Given the description of an element on the screen output the (x, y) to click on. 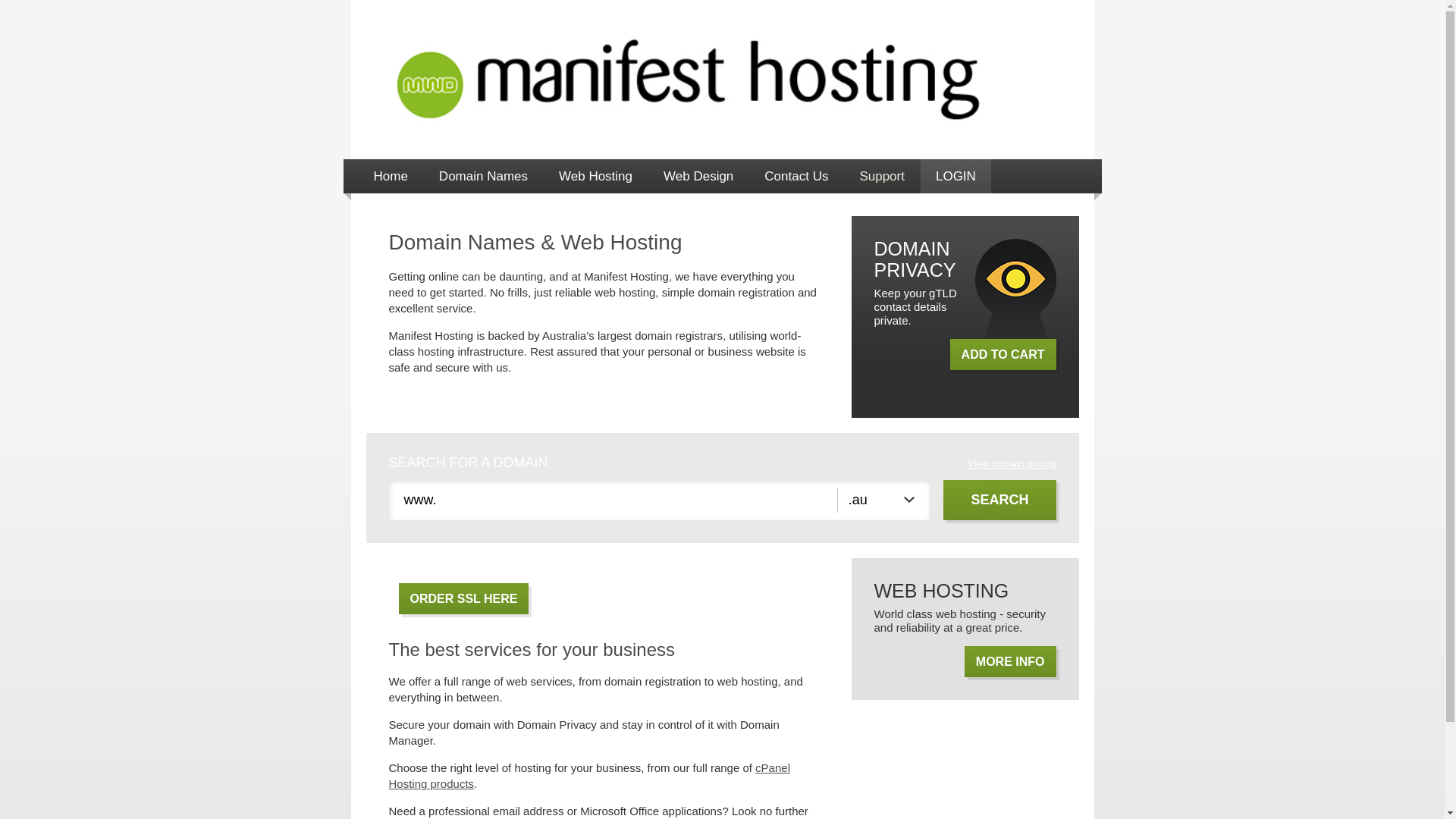
Web Design Element type: text (698, 176)
Domain Names Element type: text (482, 176)
Home Element type: text (389, 176)
View domain pricing Element type: text (1011, 463)
Web Hosting Element type: text (595, 176)
cPanel Hosting products Element type: text (588, 775)
ORDER SSL HERE Element type: text (463, 598)
Contact Us Element type: text (796, 176)
MORE INFO Element type: text (1010, 661)
ADD TO CART Element type: text (1003, 354)
LOGIN Element type: text (955, 176)
Support Element type: text (881, 176)
Search Element type: text (999, 500)
